Given the description of an element on the screen output the (x, y) to click on. 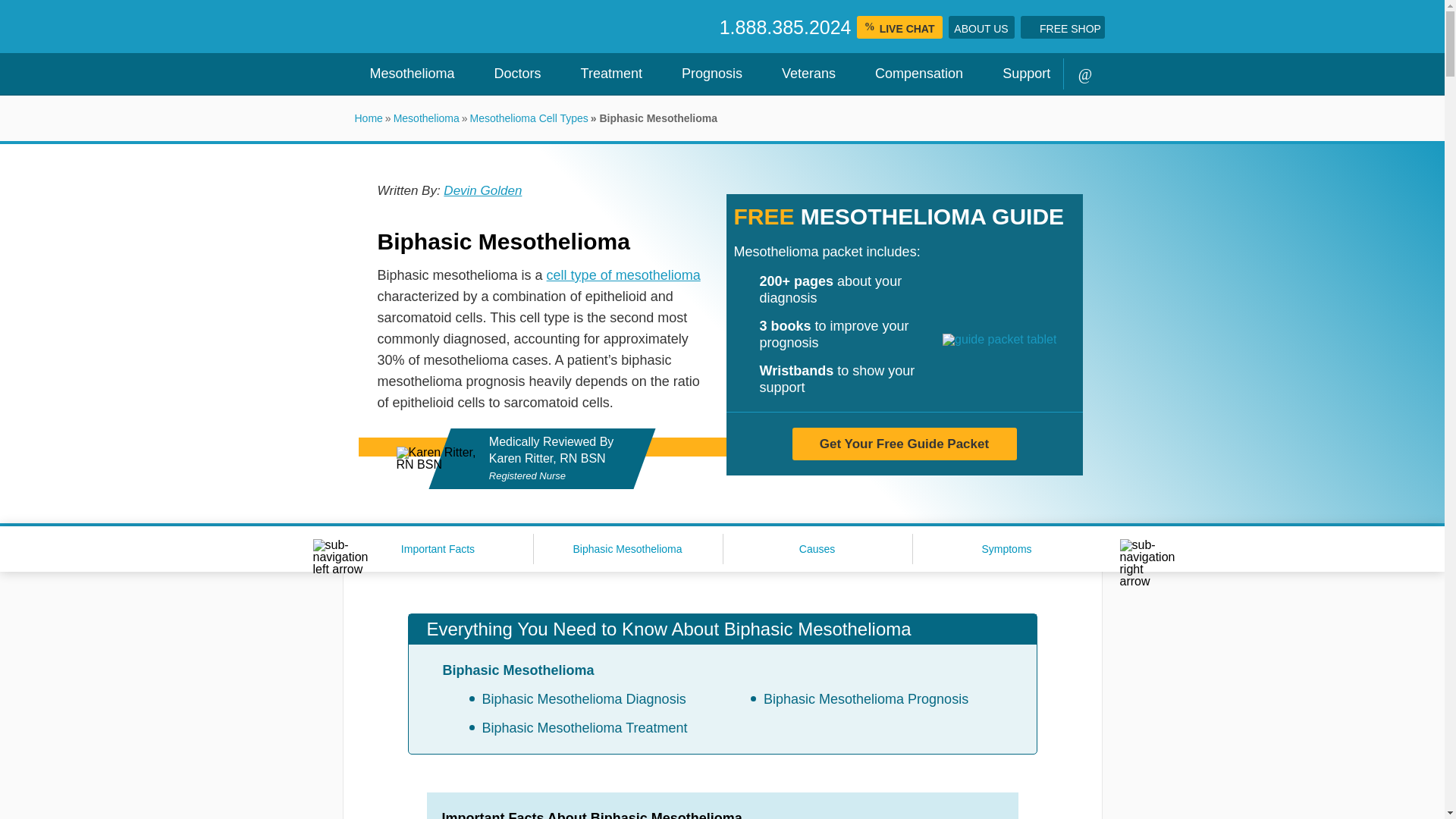
Prognosis: Extend Your Life (705, 74)
Veterans: Asbestos Exposure (801, 74)
Mesothelioma: Learn the Basics (404, 74)
MesotheliomaGuide.com (524, 27)
1.888.385.2024 (785, 28)
FREE SHOP (1062, 26)
Doctors: Locate Specialists (510, 74)
ABOUT US (980, 26)
Mesothelioma (404, 74)
LIVE CHAT (899, 26)
Treatment: Discover Options (604, 74)
